Given the description of an element on the screen output the (x, y) to click on. 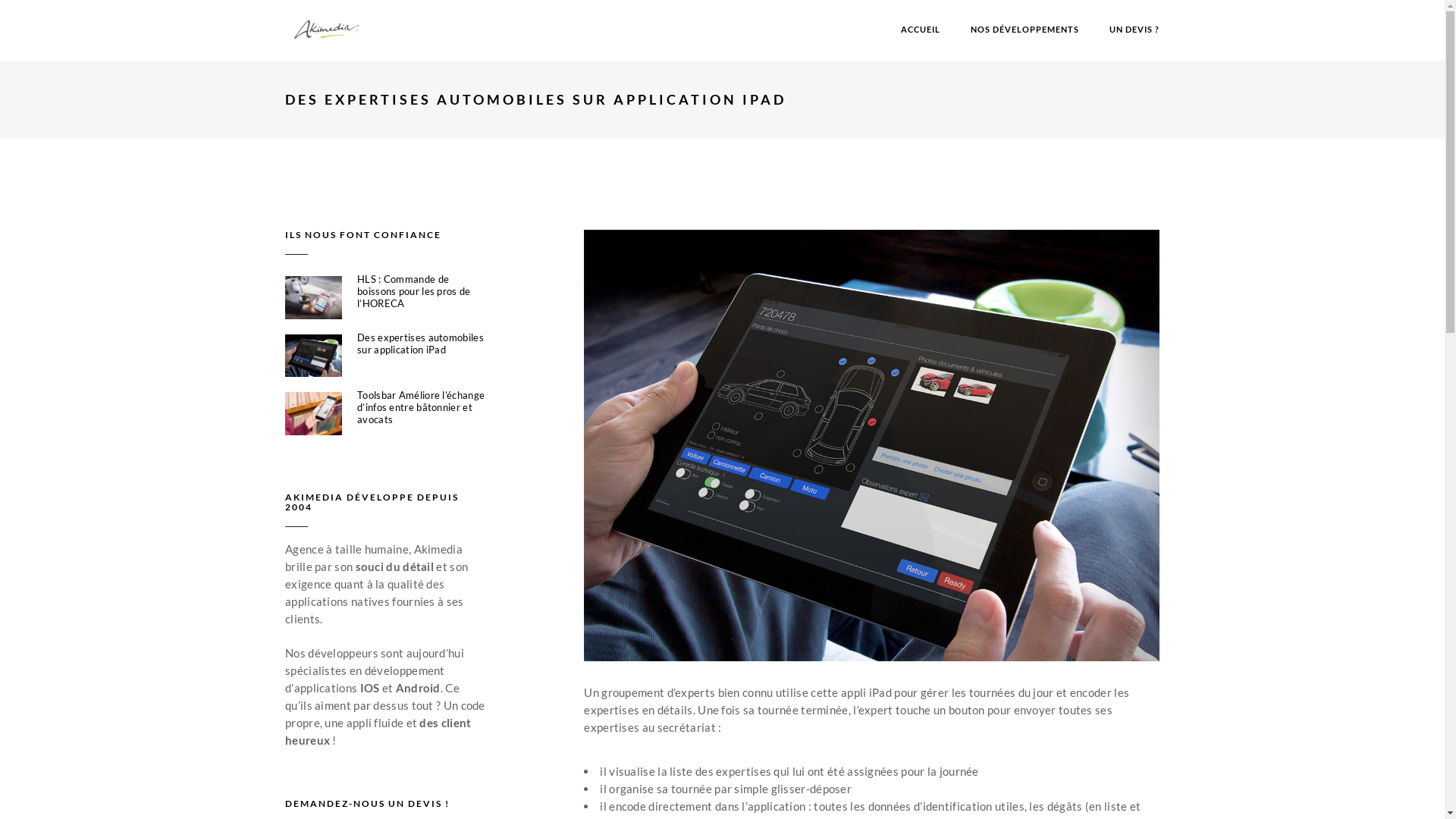
Des expertises automobiles sur application iPad Element type: text (421, 343)
UN DEVIS ? Element type: text (1134, 29)
ACCUEIL Element type: text (920, 29)
